Given the description of an element on the screen output the (x, y) to click on. 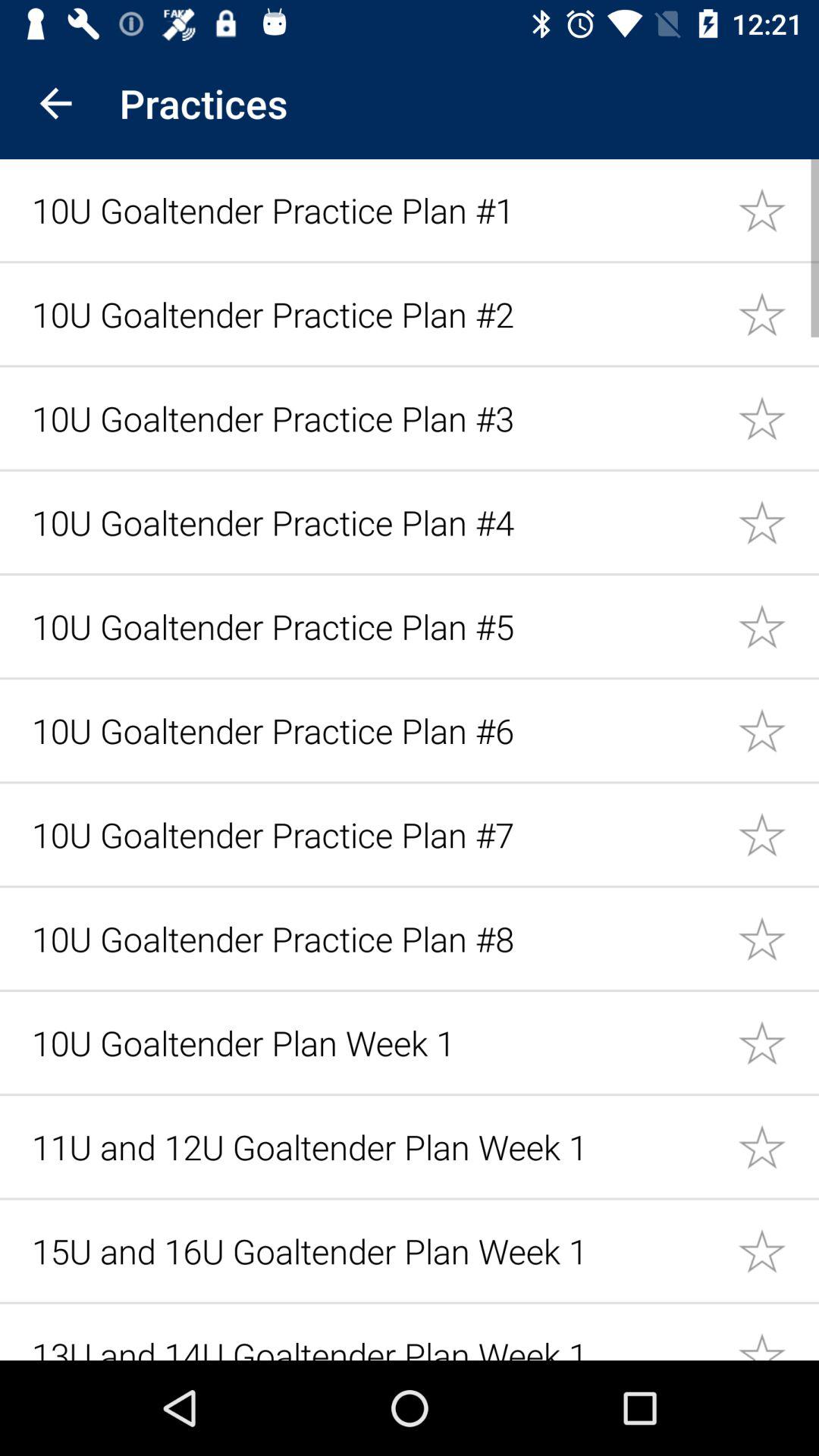
link star option (778, 417)
